Given the description of an element on the screen output the (x, y) to click on. 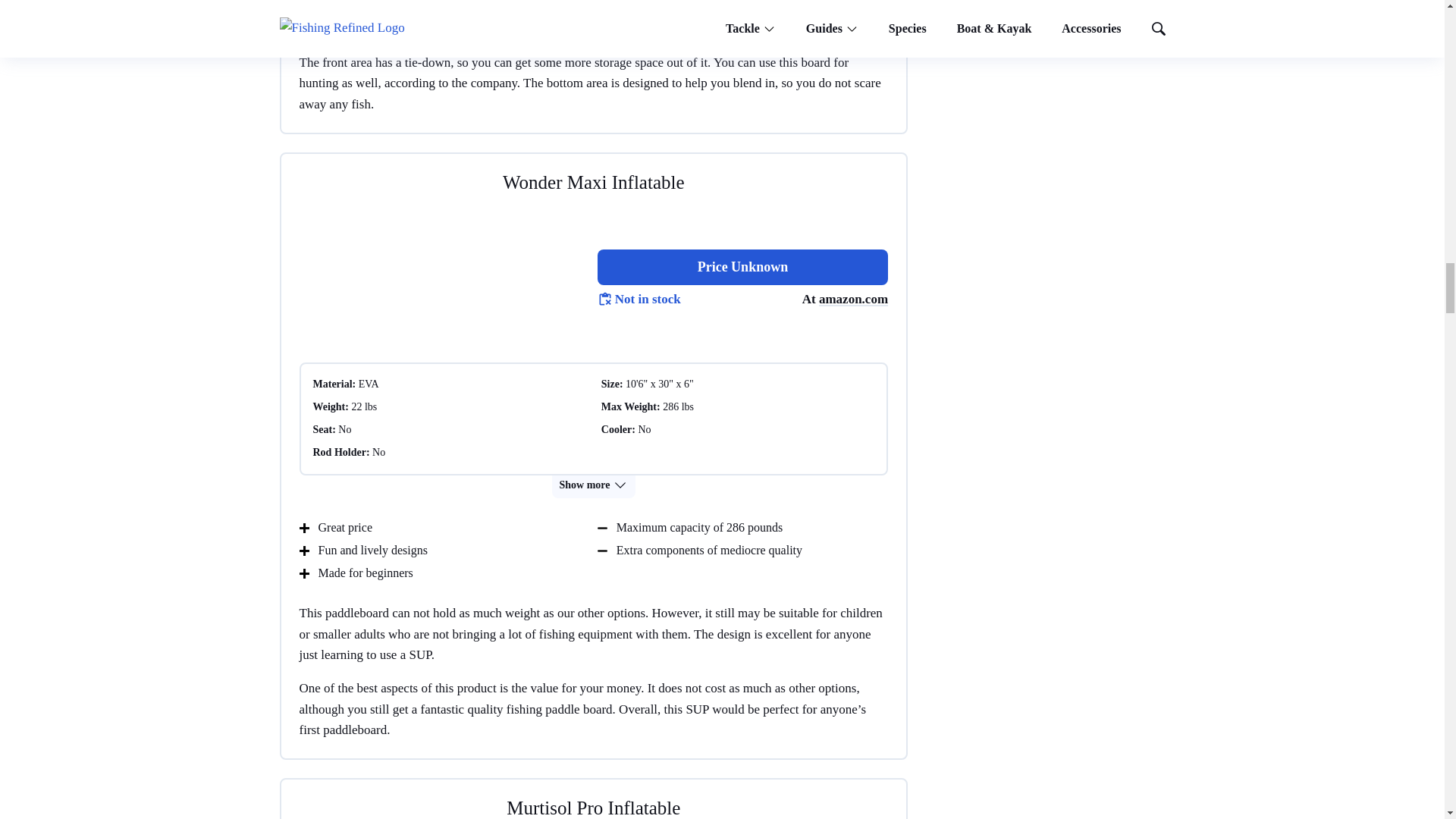
amazon.com (853, 298)
Price Unknown (742, 267)
